Given the description of an element on the screen output the (x, y) to click on. 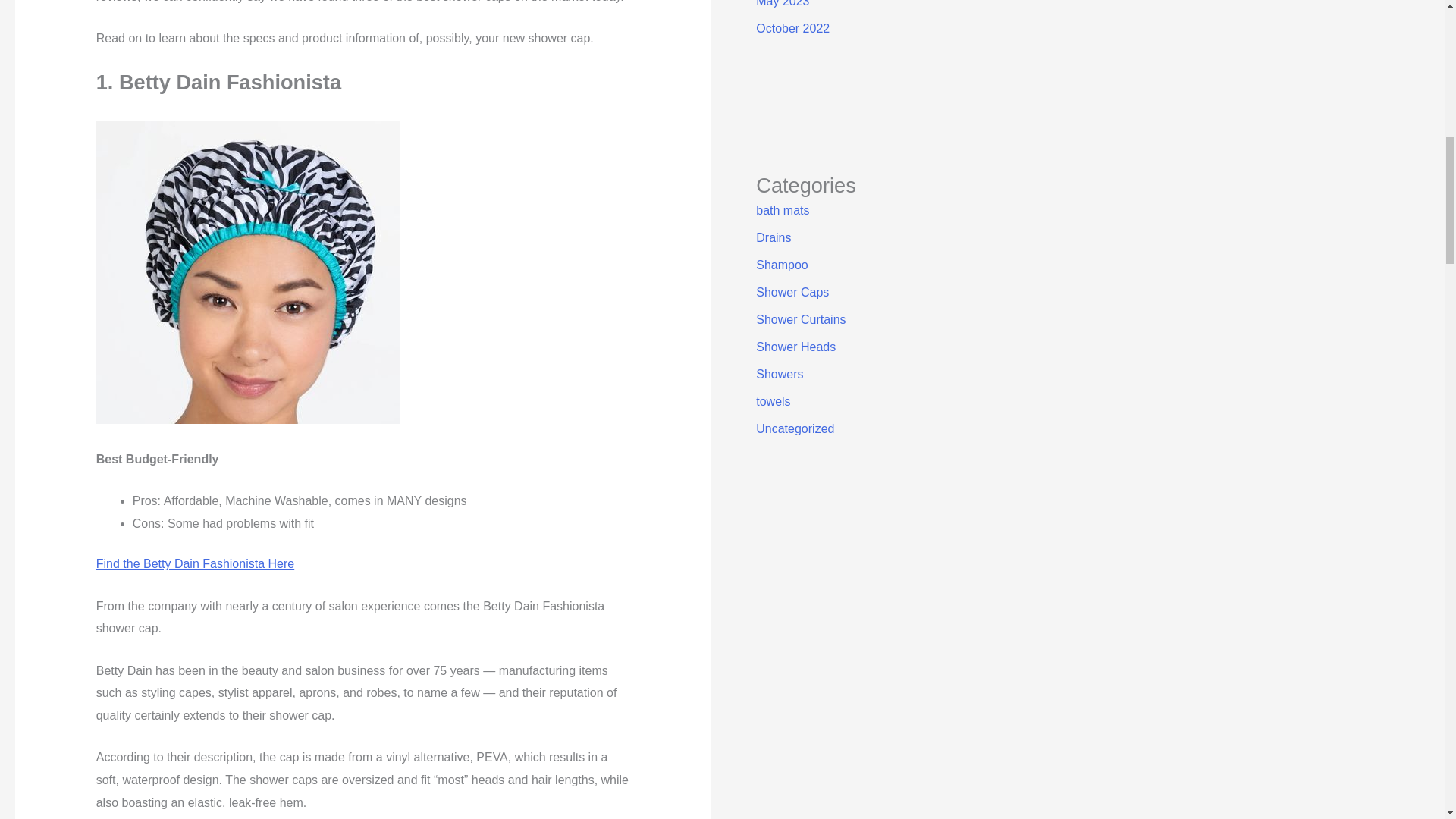
Drains (772, 237)
October 2022 (792, 28)
Shower Caps (791, 291)
Find the Betty Dain Fashionista Here (195, 563)
May 2023 (782, 3)
Shower Curtains (800, 318)
bath mats (782, 210)
Shampoo (781, 264)
Shower Heads (795, 346)
